Given the description of an element on the screen output the (x, y) to click on. 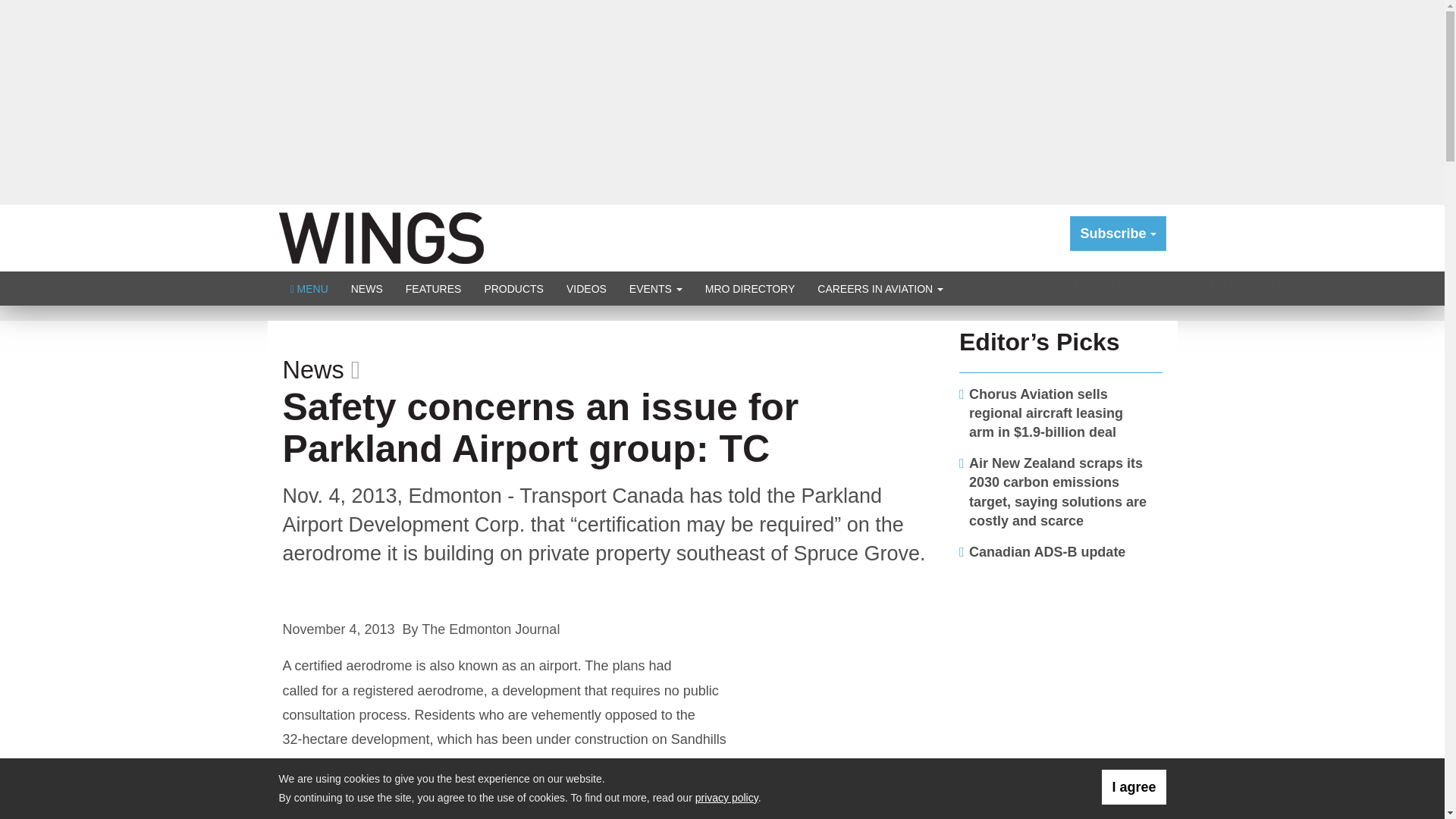
CAREERS IN AVIATION (880, 288)
VIDEOS (585, 288)
MENU (309, 288)
FEATURES (433, 288)
EVENTS (655, 288)
NEWS (366, 288)
Wings Magazine (381, 237)
Subscribe (1118, 233)
PRODUCTS (512, 288)
Click to show site navigation (309, 288)
3rd party ad content (1060, 668)
MRO DIRECTORY (750, 288)
